Given the description of an element on the screen output the (x, y) to click on. 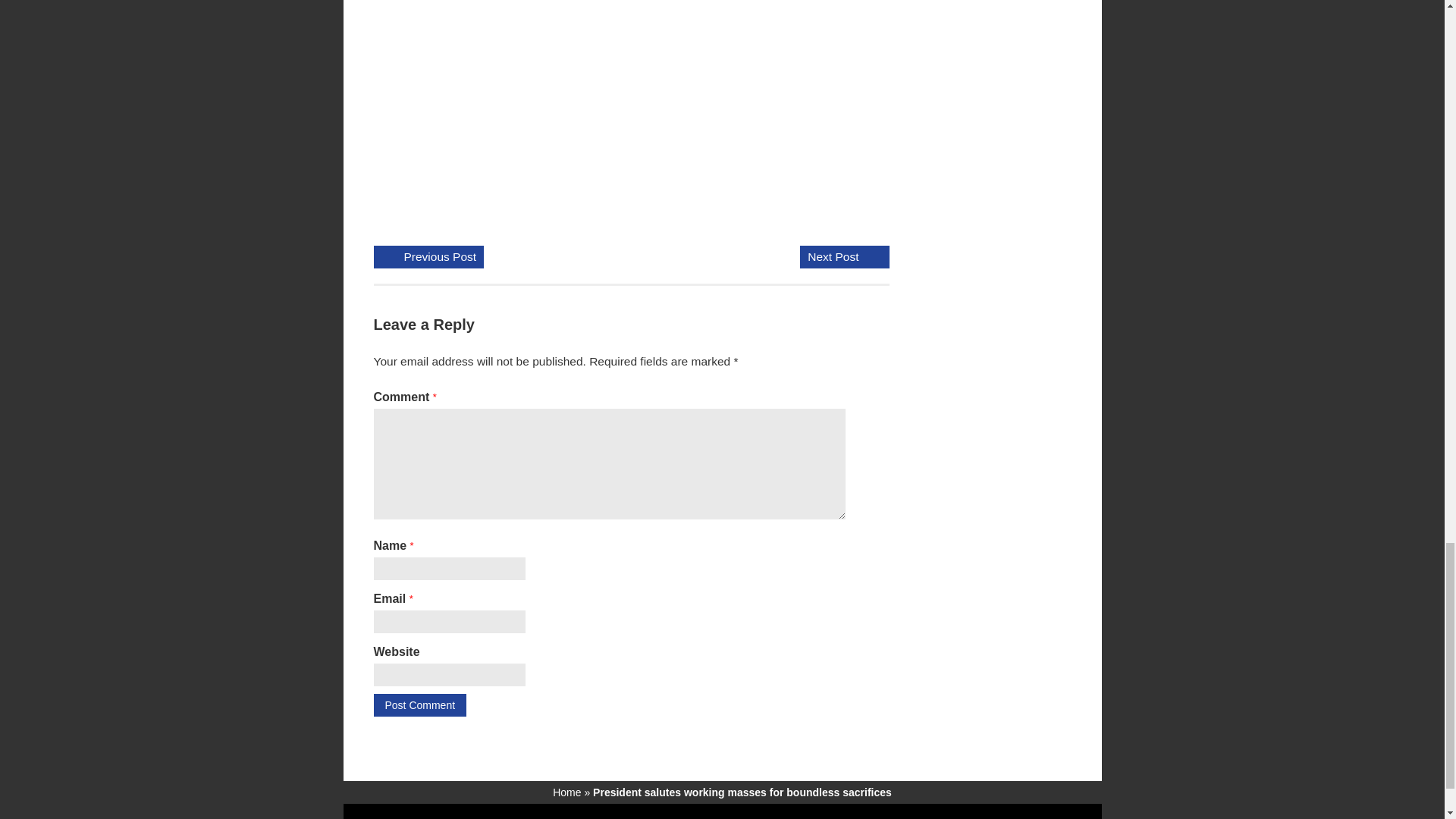
Post Comment (418, 704)
Post Comment (418, 704)
Previous Post (439, 256)
Next Post (832, 256)
